Given the description of an element on the screen output the (x, y) to click on. 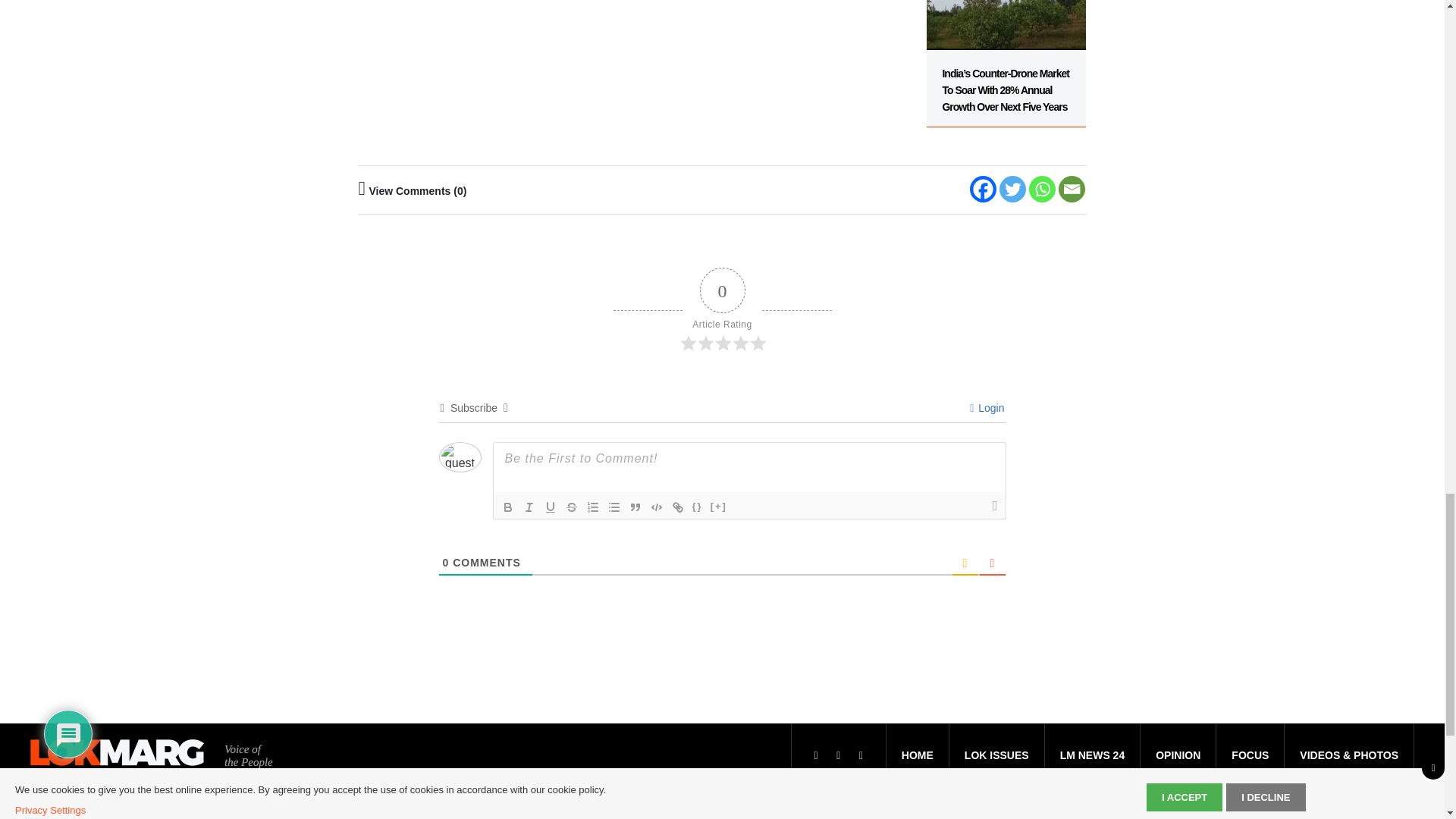
Login (986, 408)
